Given the description of an element on the screen output the (x, y) to click on. 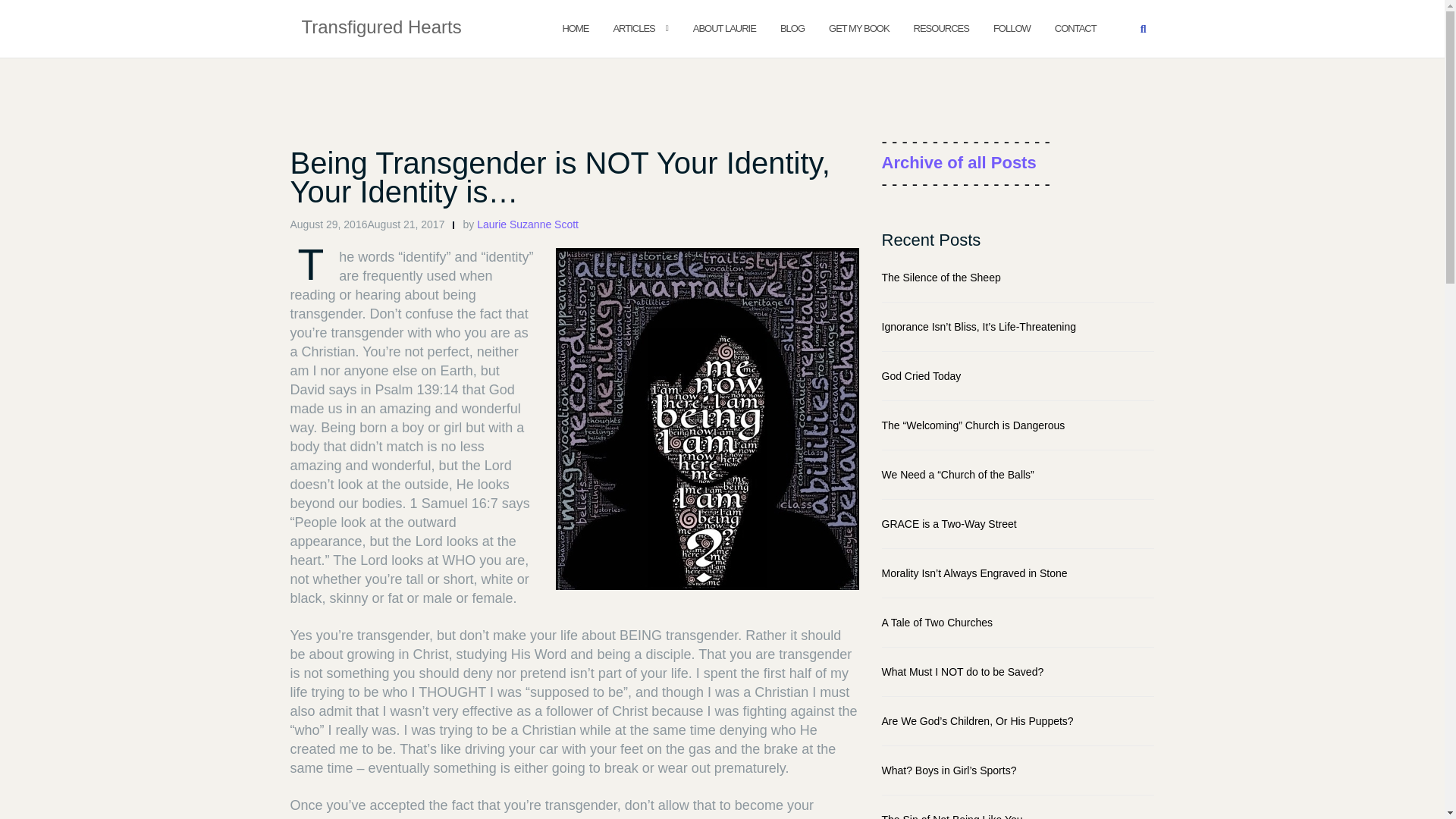
Resources (941, 28)
FOLLOW (1011, 28)
Follow (1011, 28)
Articles (632, 28)
RESOURCES (941, 28)
Laurie Suzanne Scott (527, 224)
CONTACT (1075, 28)
ABOUT LAURIE (724, 28)
GET MY BOOK (858, 28)
About Laurie (724, 28)
